Given the description of an element on the screen output the (x, y) to click on. 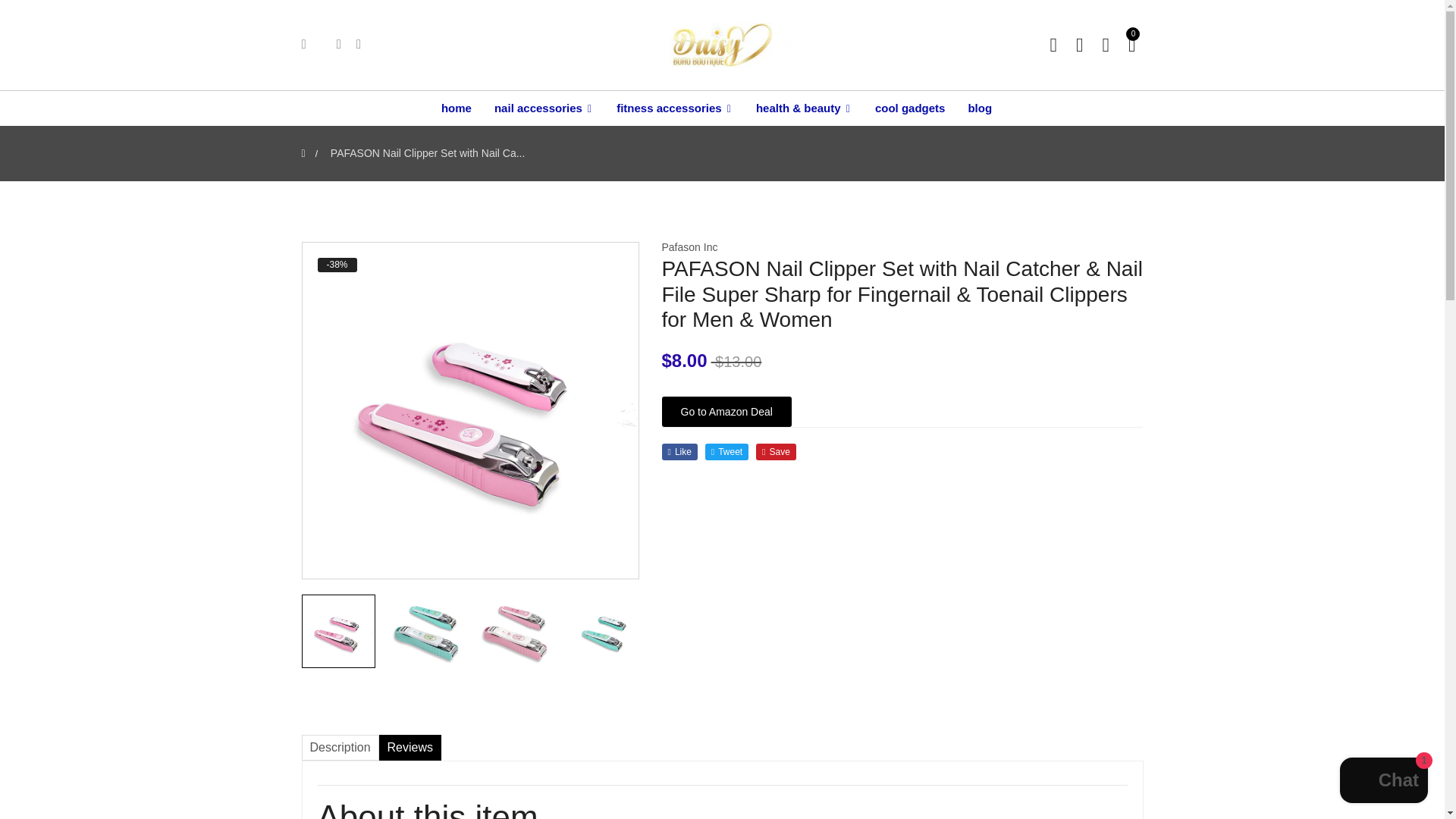
Follow us on Pinterest (775, 451)
nail accessories (544, 108)
Share on Facebook (679, 451)
Share on Twitter (726, 451)
home (462, 108)
fitness accessories (674, 108)
